Given the description of an element on the screen output the (x, y) to click on. 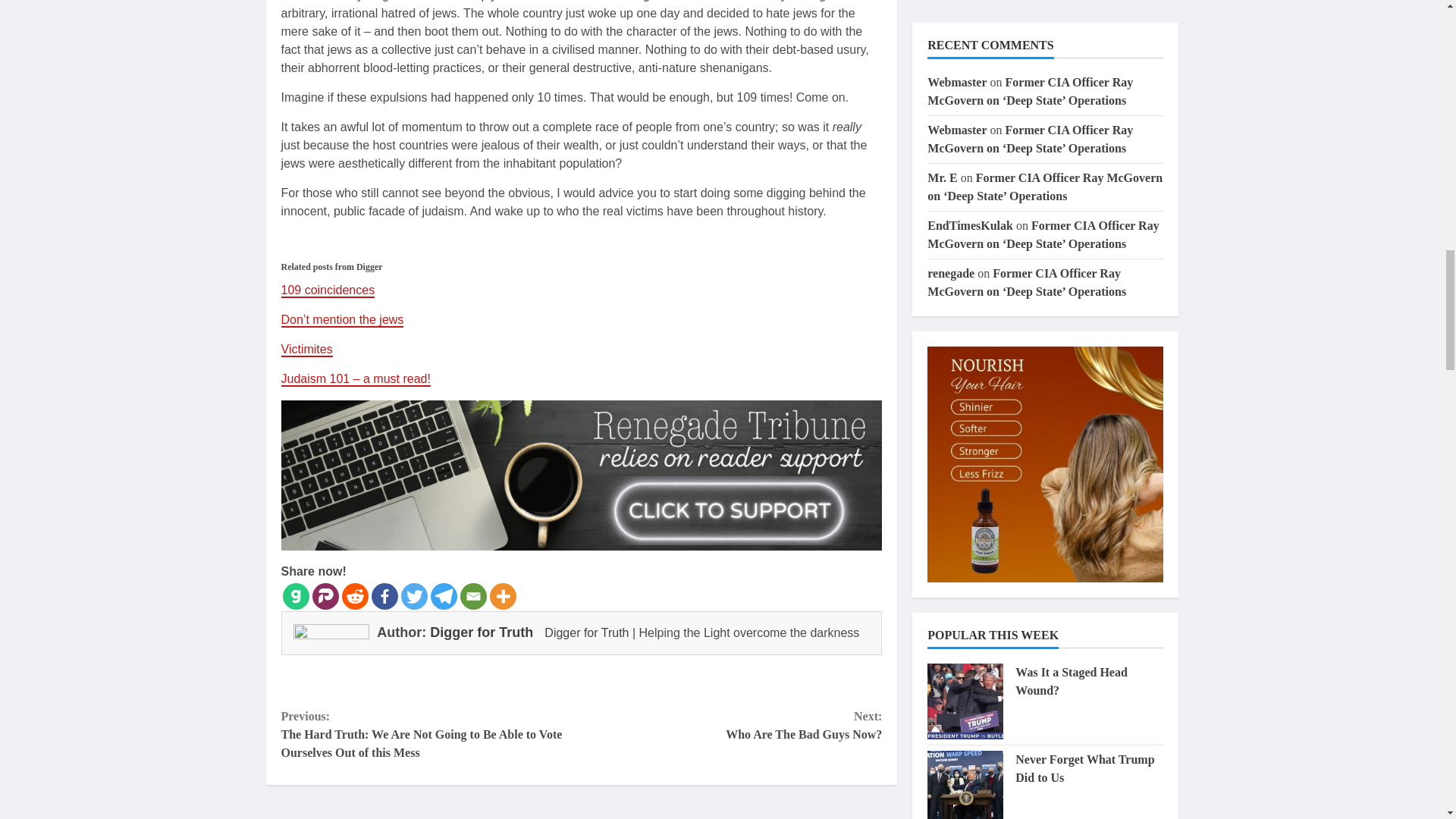
Email (473, 596)
109 coincidences (327, 290)
More (502, 596)
Reddit (354, 596)
Facebook (384, 596)
Telegram (443, 596)
Gab (295, 596)
Victimites (306, 350)
Twitter (413, 596)
Parler (326, 596)
